Given the description of an element on the screen output the (x, y) to click on. 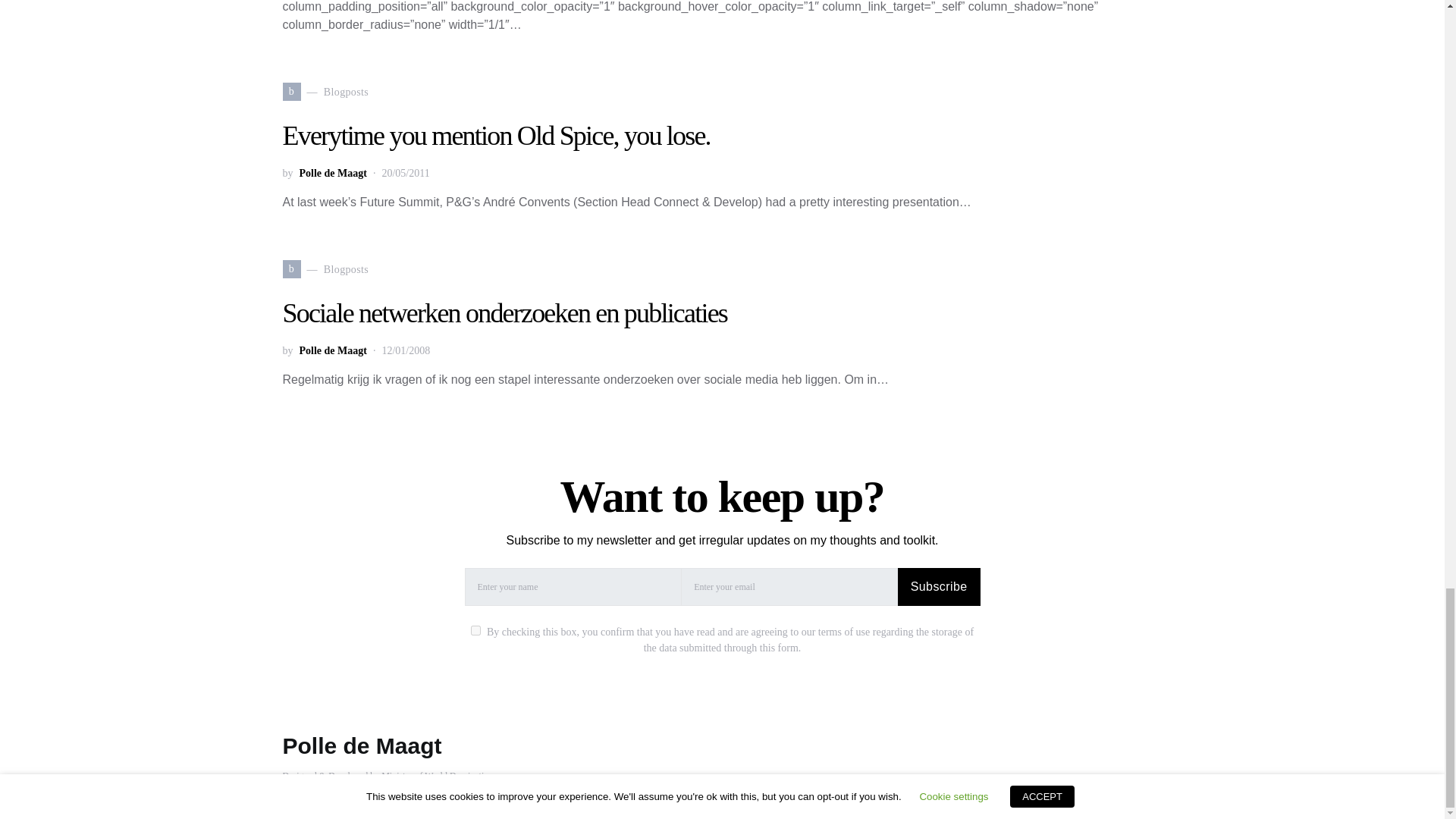
View all posts by Polle de Maagt (332, 350)
on (475, 630)
View all posts by Polle de Maagt (332, 172)
